Given the description of an element on the screen output the (x, y) to click on. 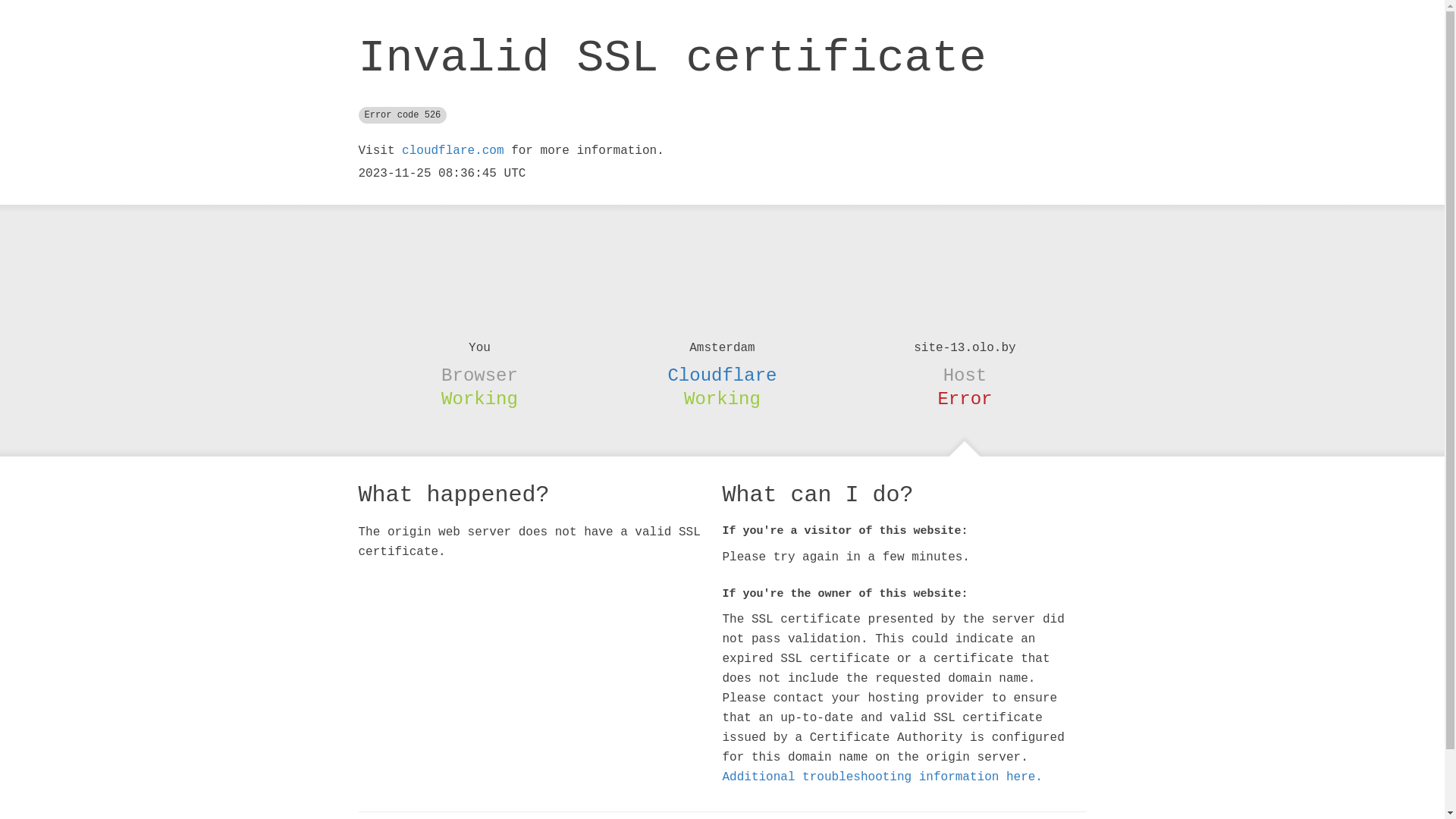
cloudflare.com Element type: text (452, 150)
Additional troubleshooting information here. Element type: text (881, 777)
Cloudflare Element type: text (721, 375)
